Given the description of an element on the screen output the (x, y) to click on. 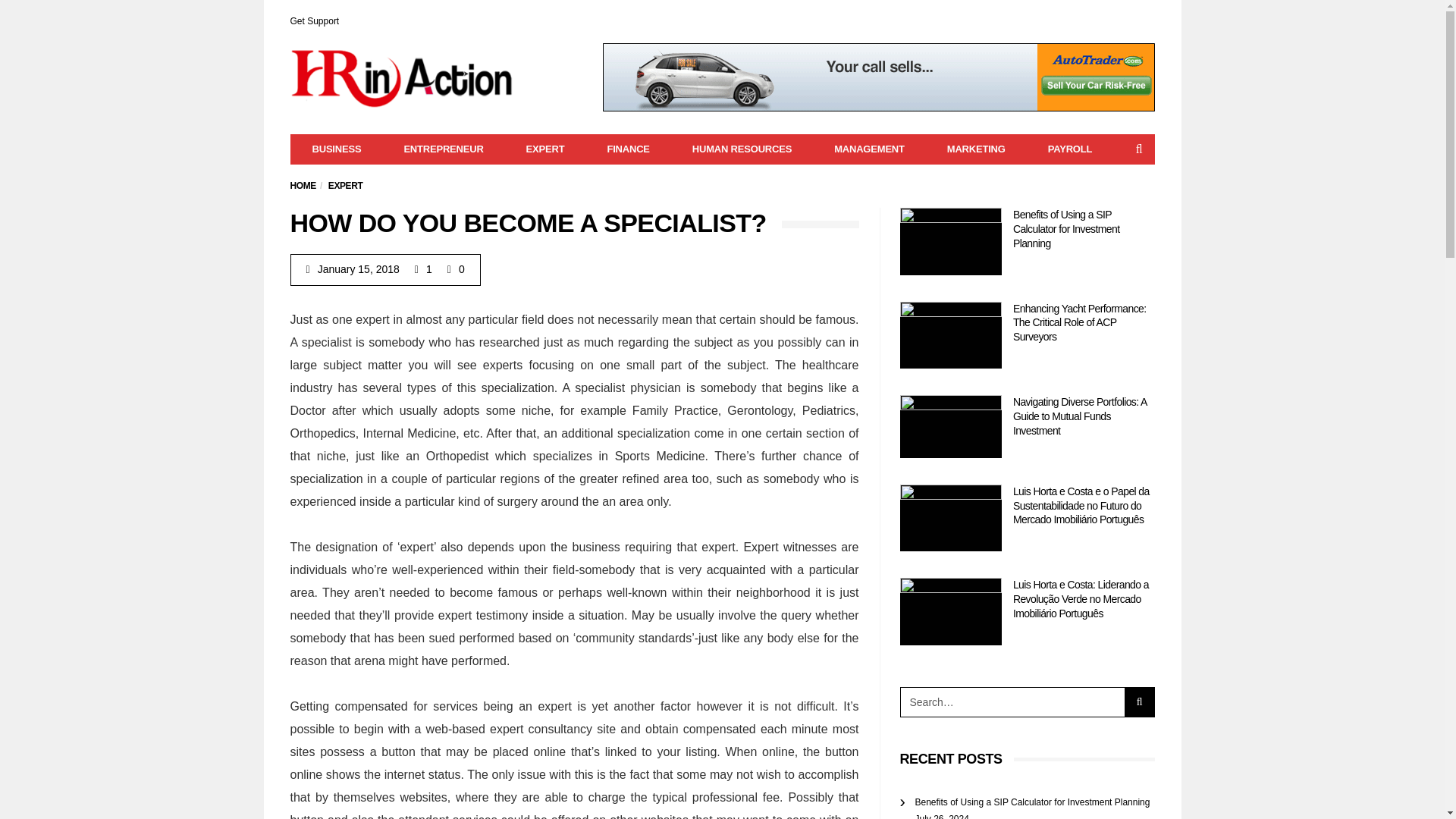
FINANCE (627, 149)
ENTREPRENEUR (442, 149)
MANAGEMENT (869, 149)
Search for: (1011, 702)
Get Support (314, 20)
HUMAN RESOURCES (741, 149)
EXPERT (345, 185)
MARKETING (976, 149)
